Given the description of an element on the screen output the (x, y) to click on. 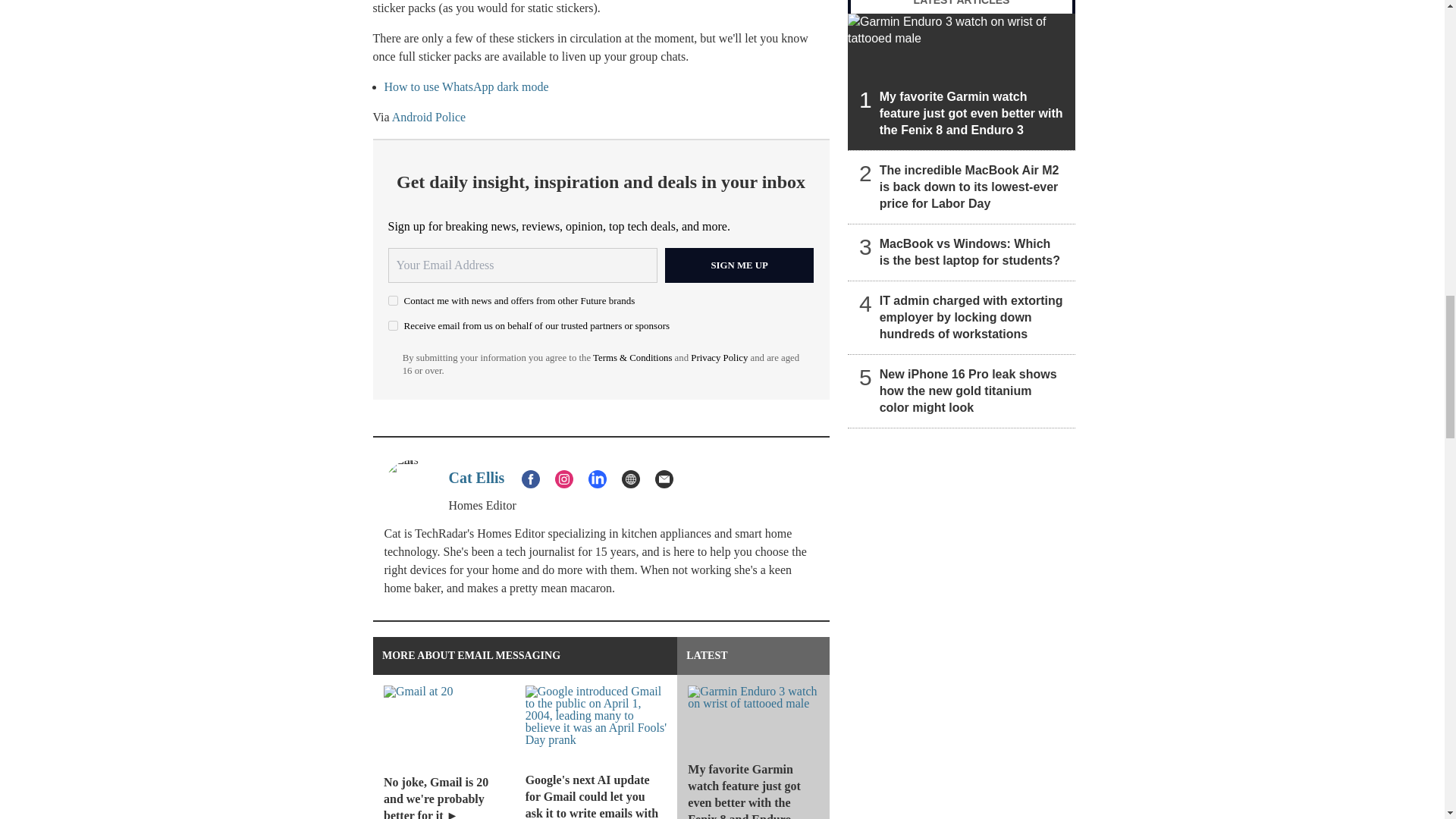
Sign me up (739, 265)
on (392, 325)
on (392, 300)
